Given the description of an element on the screen output the (x, y) to click on. 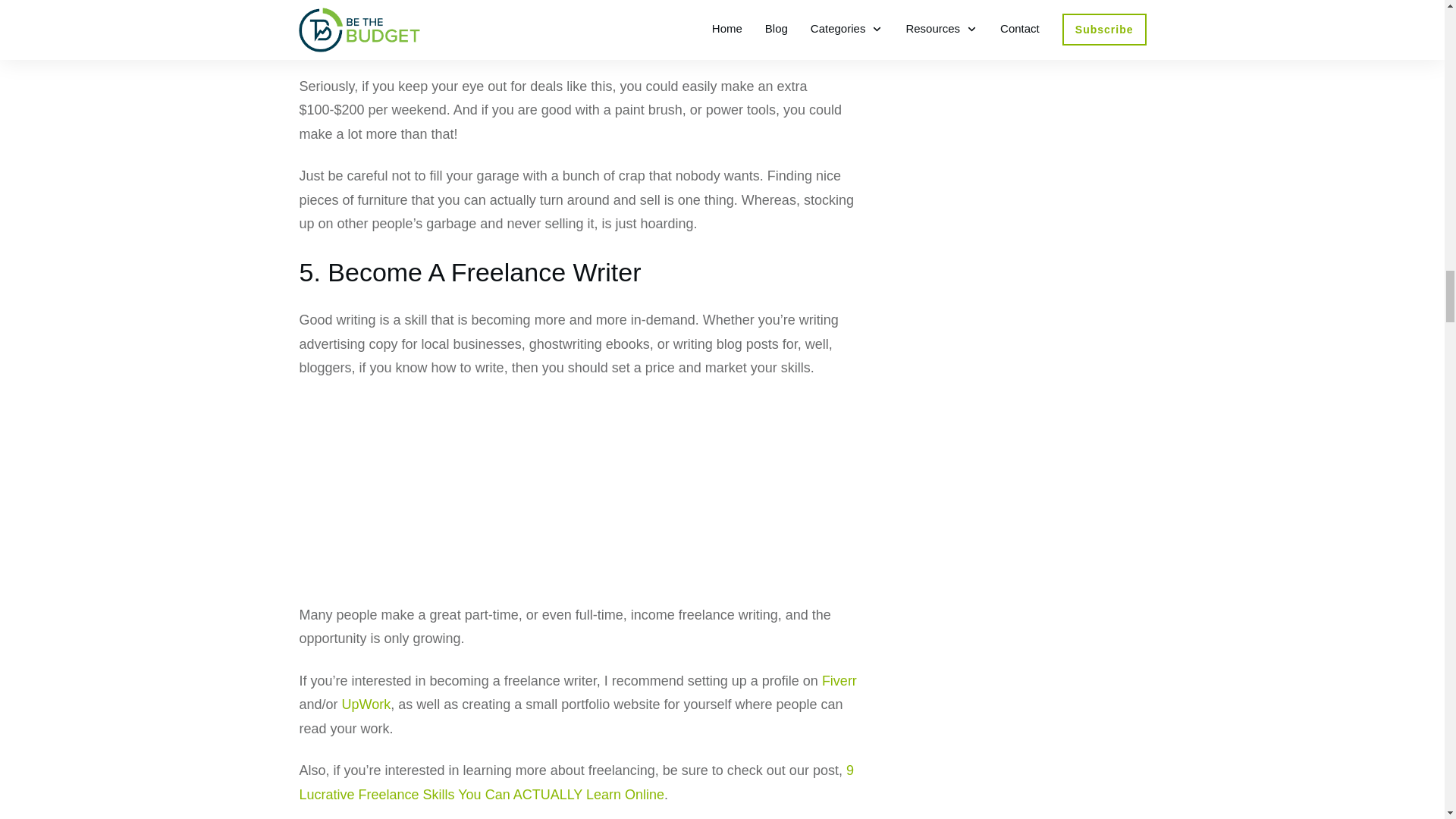
9 Lucrative Freelance Skills You Can ACTUALLY Learn Online (575, 782)
Fiverr (839, 680)
UpWork (366, 703)
